Given the description of an element on the screen output the (x, y) to click on. 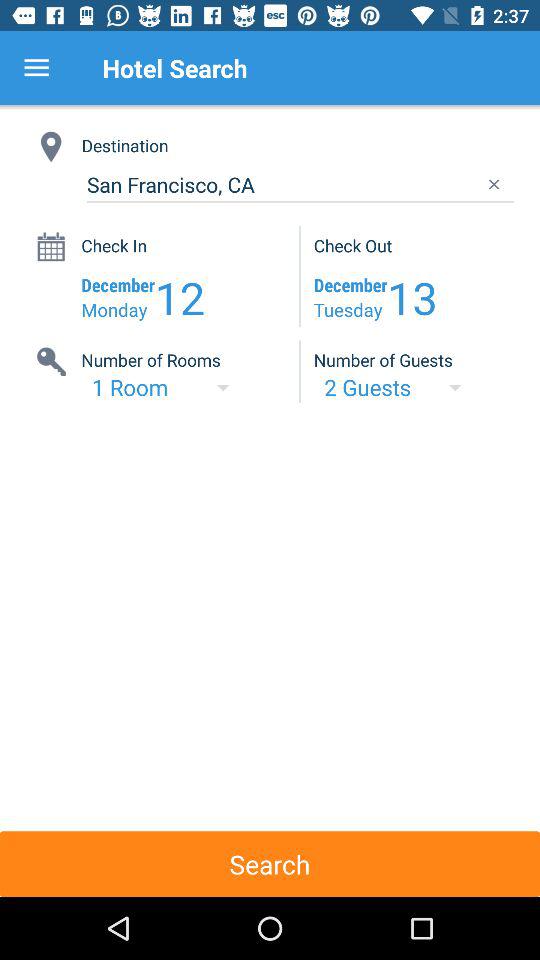
jump to san francisco, ca item (300, 184)
